Given the description of an element on the screen output the (x, y) to click on. 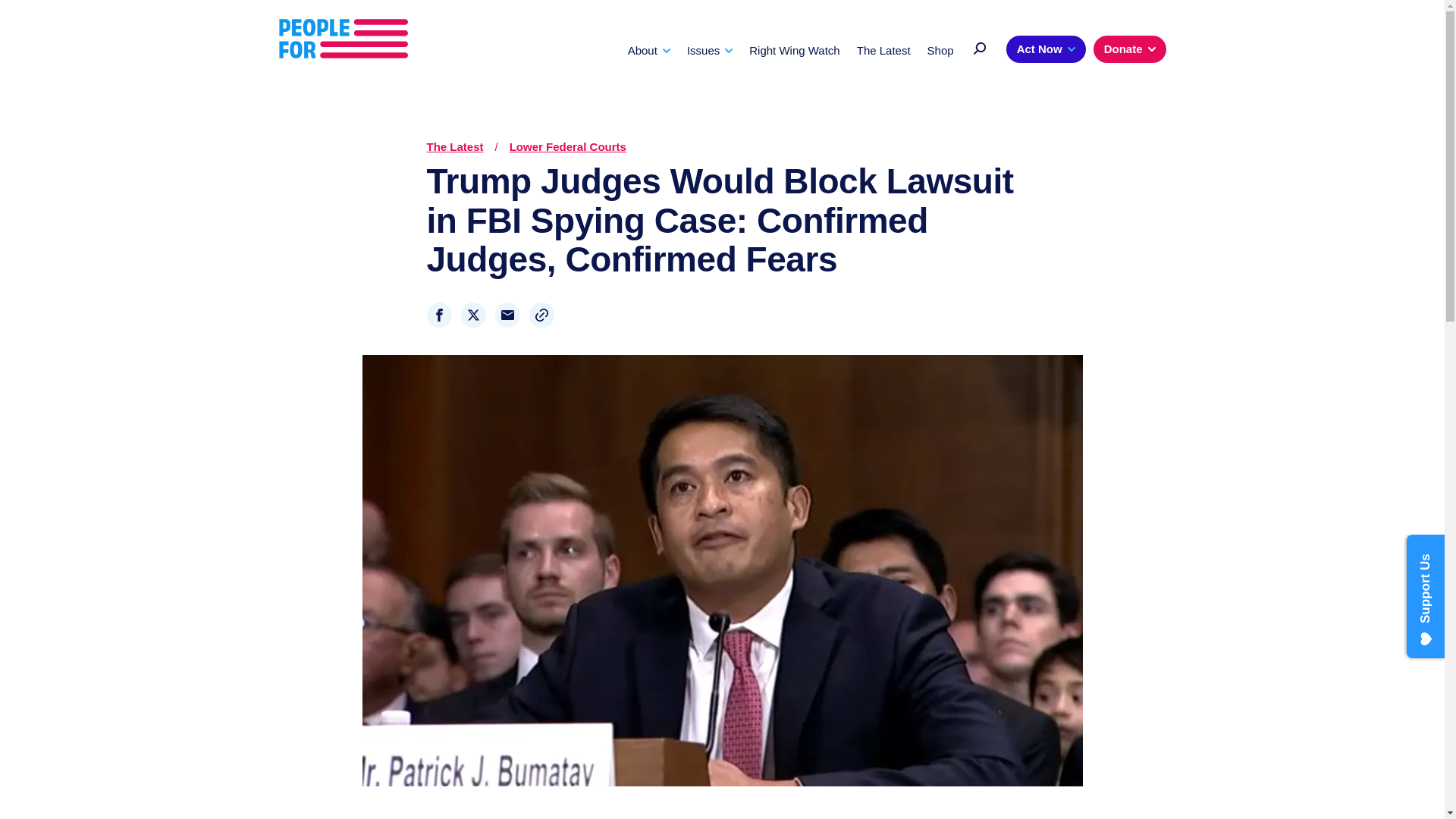
Share to X (473, 314)
Act Now (1046, 49)
Share to Facebook (438, 314)
About (648, 50)
Shop (940, 50)
Home (343, 38)
Issues (709, 50)
The Latest (884, 50)
Share to Email (507, 314)
Donate (1129, 49)
